Given the description of an element on the screen output the (x, y) to click on. 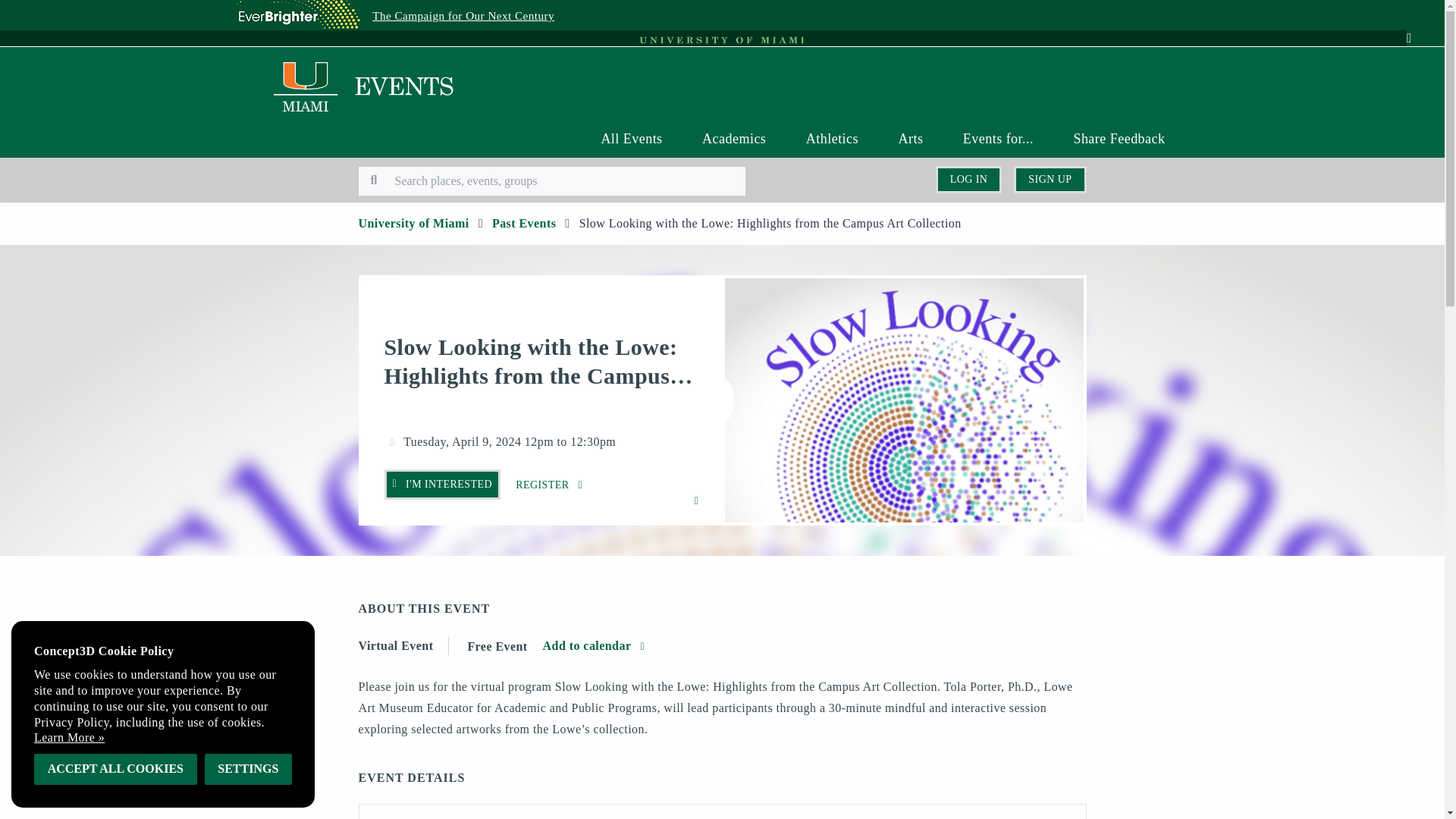
University of Miami Simple text logo for University of Miami (722, 39)
The Campaign for Our Next Century (463, 15)
Skip to Content (261, 47)
Request Assistance (563, 47)
DEFAULT (1017, 51)
University of Miami Simple text logo for University of Miami (722, 40)
Office of Disability Services (441, 47)
HIGH CONTRAST (1124, 51)
